Given the description of an element on the screen output the (x, y) to click on. 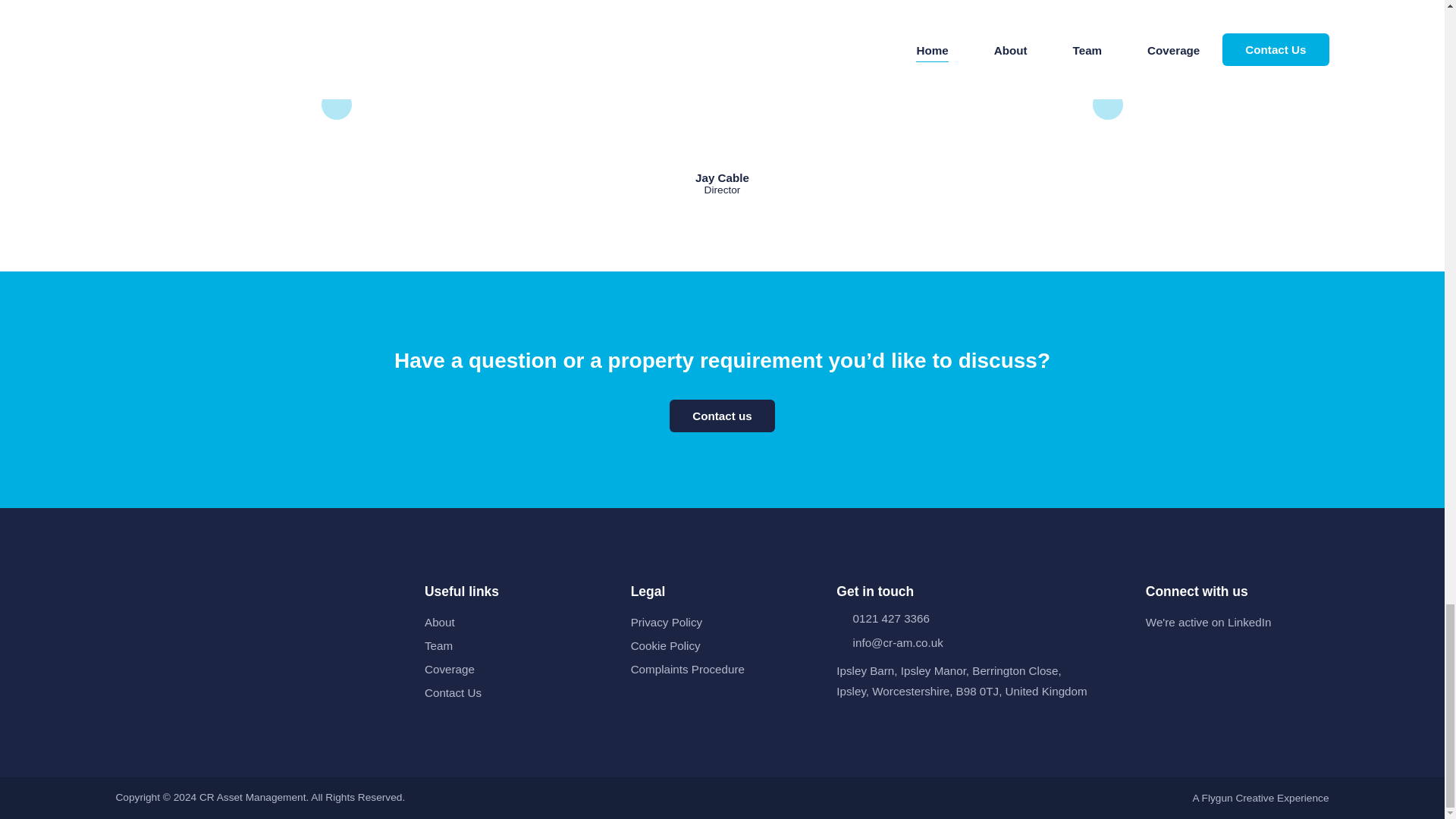
Contact Us (453, 692)
Contact us (721, 415)
Coverage (449, 668)
About (439, 621)
LinkedIn (1154, 656)
Complaints Procedure (687, 668)
A Flygun Creative Experience (1259, 797)
0121 427 3366 (978, 617)
Cookie Policy (665, 645)
Privacy Policy (666, 621)
Team (438, 645)
Go to the CR Asset Management home page (258, 599)
